Given the description of an element on the screen output the (x, y) to click on. 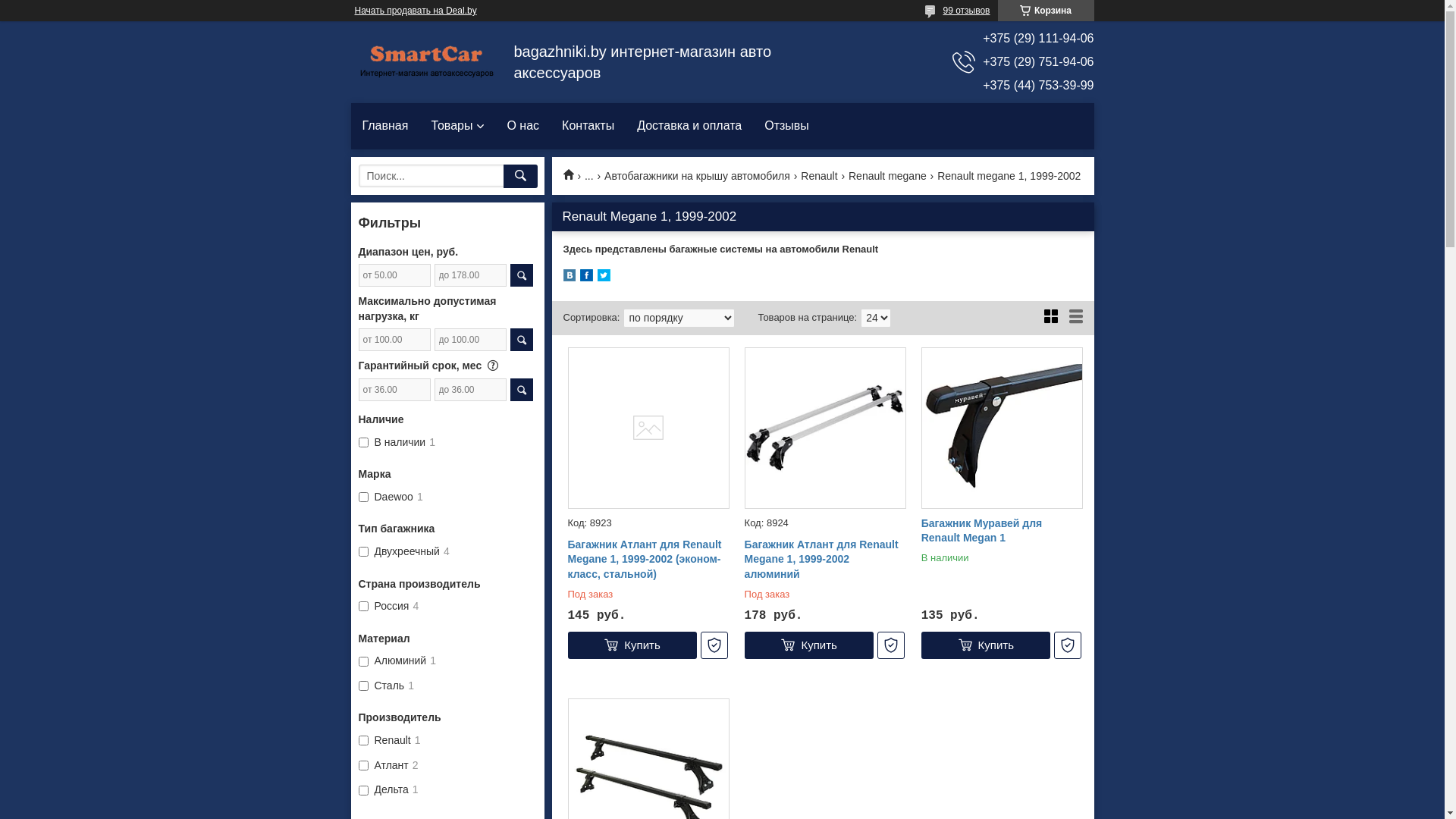
facebook Element type: hover (585, 277)
Renault megane Element type: text (887, 176)
Renault Element type: text (818, 176)
twitter Element type: hover (603, 277)
